Given the description of an element on the screen output the (x, y) to click on. 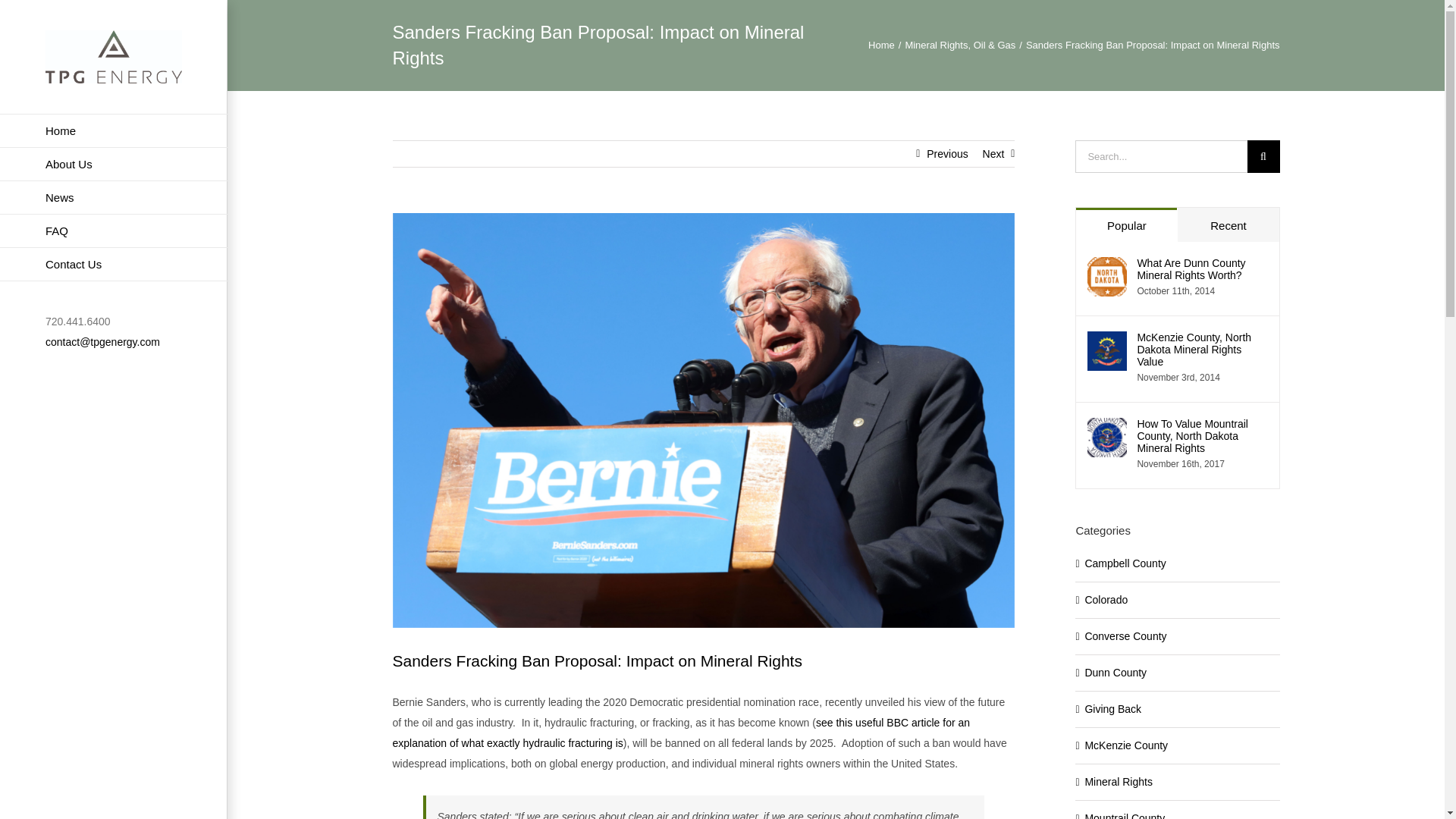
About Us (113, 164)
Previous (947, 153)
Mineral Rights (936, 44)
Contact Us (113, 264)
FAQ (113, 231)
News (113, 197)
Home (113, 130)
Home (881, 44)
